Given the description of an element on the screen output the (x, y) to click on. 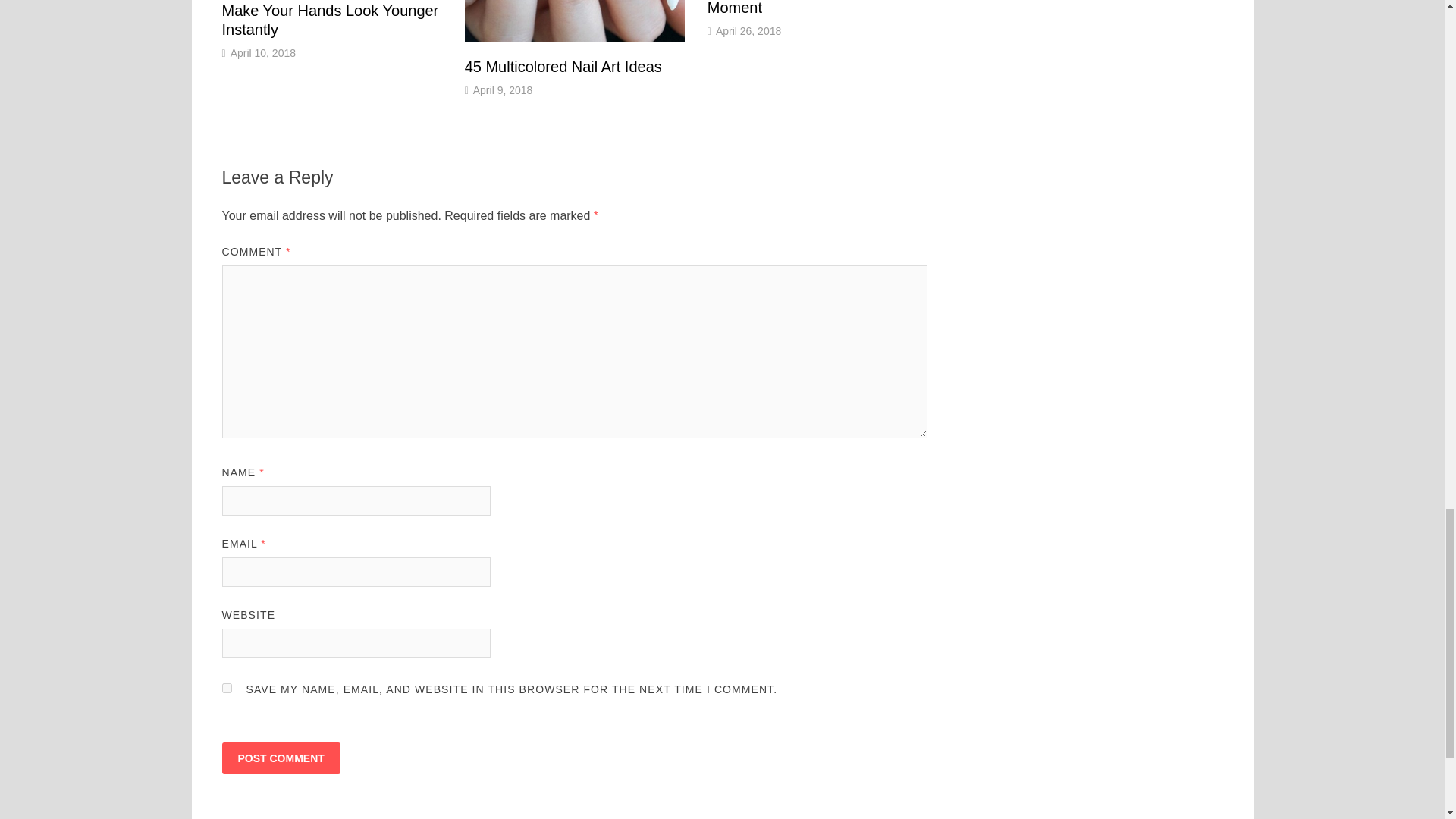
Post Comment (280, 757)
Post Comment (280, 757)
April 9, 2018 (502, 90)
April 26, 2018 (748, 30)
yes (226, 687)
April 10, 2018 (262, 52)
45 Multicolored Nail Art Ideas (563, 66)
